Given the description of an element on the screen output the (x, y) to click on. 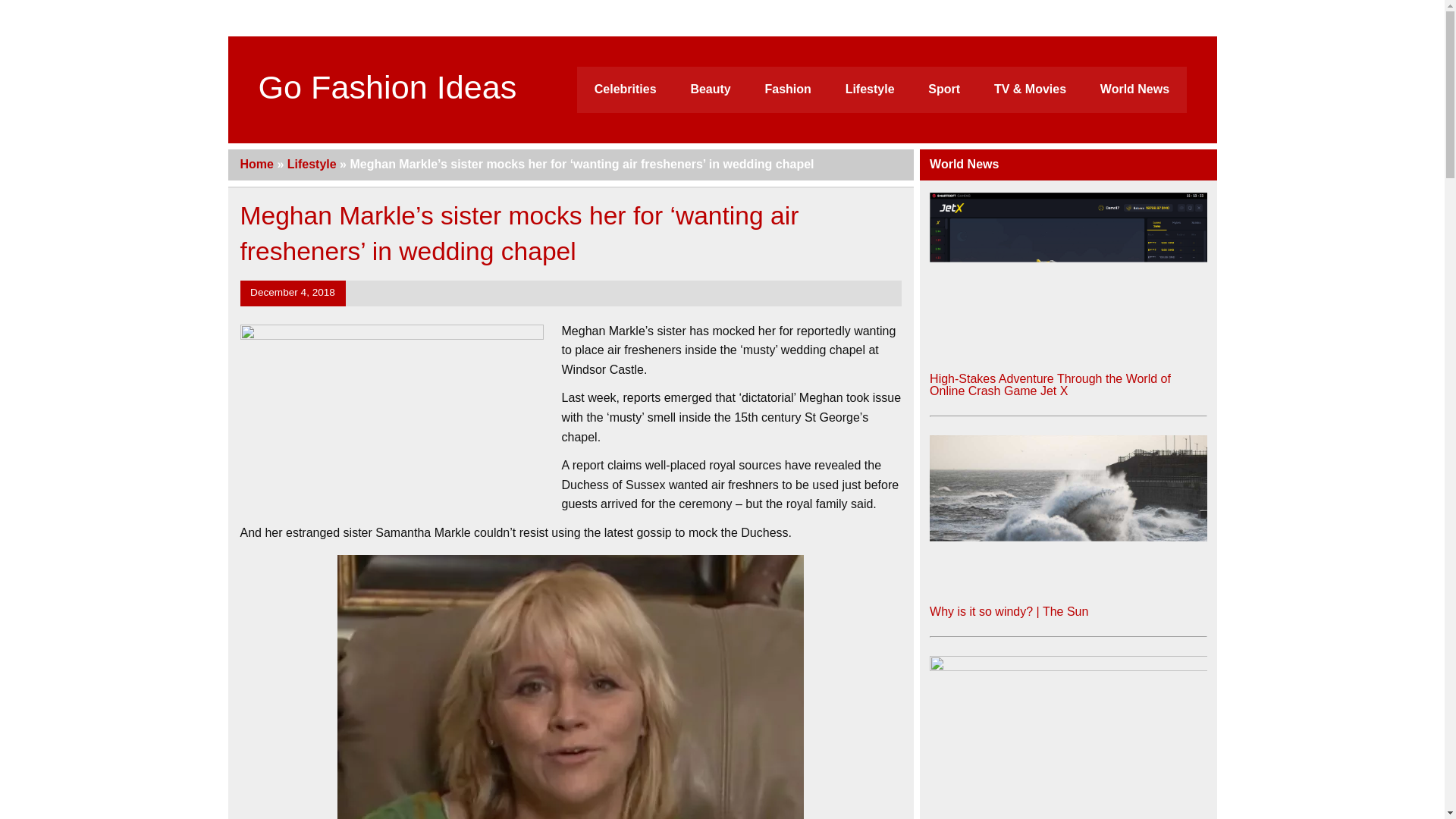
Lifestyle (311, 164)
Beauty (710, 89)
December 4, 2018 (292, 292)
Home (256, 164)
Fashion (788, 89)
05:45 (292, 292)
Lifestyle (869, 89)
World News (1134, 89)
